Given the description of an element on the screen output the (x, y) to click on. 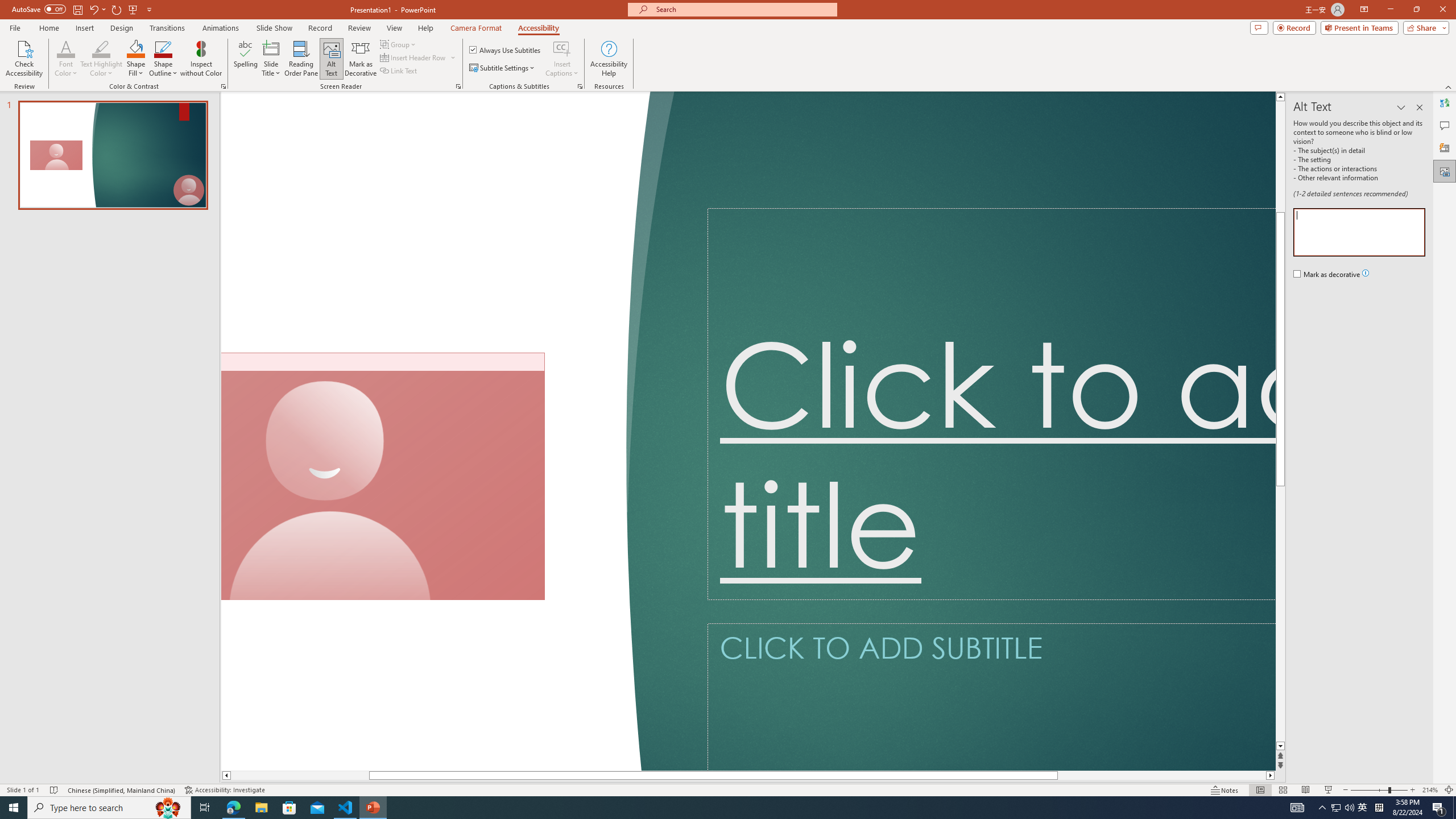
Mark as decorative (1327, 274)
Group (398, 44)
Slide Title (271, 48)
Mark as Decorative (360, 58)
